Given the description of an element on the screen output the (x, y) to click on. 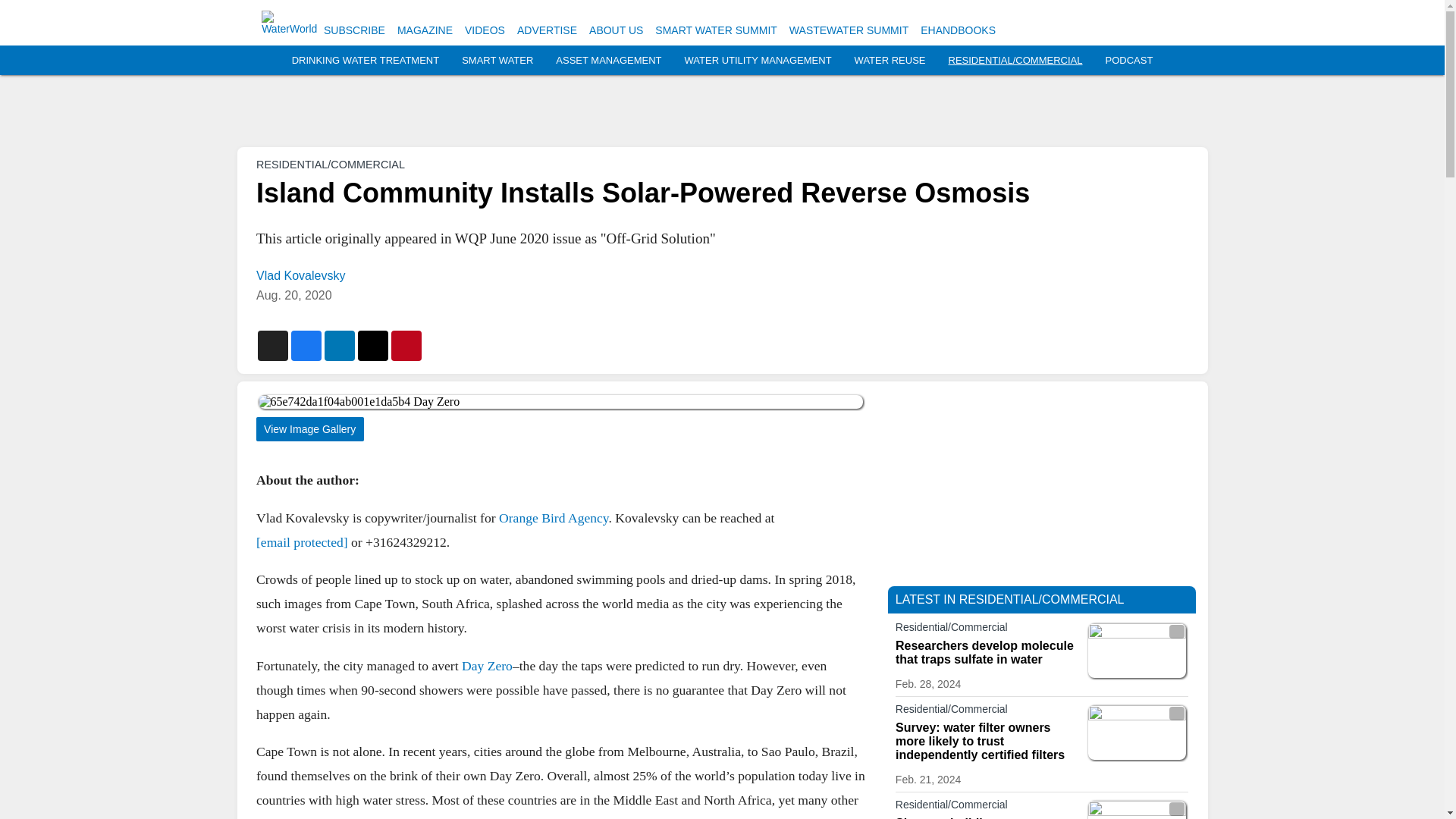
EHANDBOOKS (957, 30)
ABOUT US (616, 30)
Orange Bird Agency (553, 517)
ASSET MANAGEMENT (608, 60)
SMART WATER SUMMIT (715, 30)
WASTEWATER SUMMIT (848, 30)
Vlad Kovalevsky (300, 275)
SUBSCRIBE (354, 30)
65e742da1f04ab001e1da5b4 Day Zero (559, 401)
WATER UTILITY MANAGEMENT (757, 60)
